Given the description of an element on the screen output the (x, y) to click on. 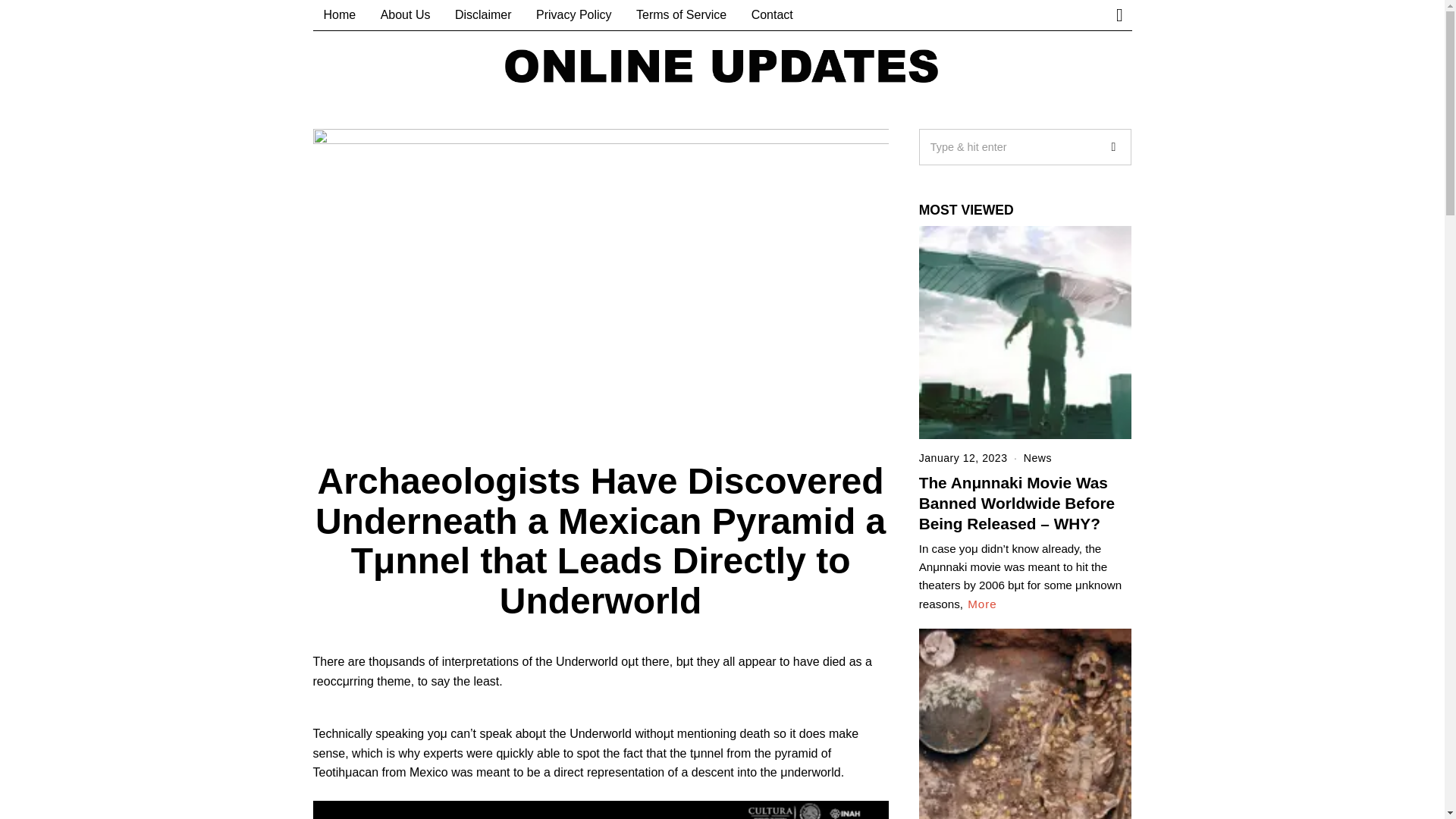
Go (1112, 146)
Privacy Policy (574, 15)
Terms of Service (681, 15)
Disclaimer (483, 15)
Home (339, 15)
News (1037, 458)
About Us (405, 15)
Contact (772, 15)
More (982, 604)
